Given the description of an element on the screen output the (x, y) to click on. 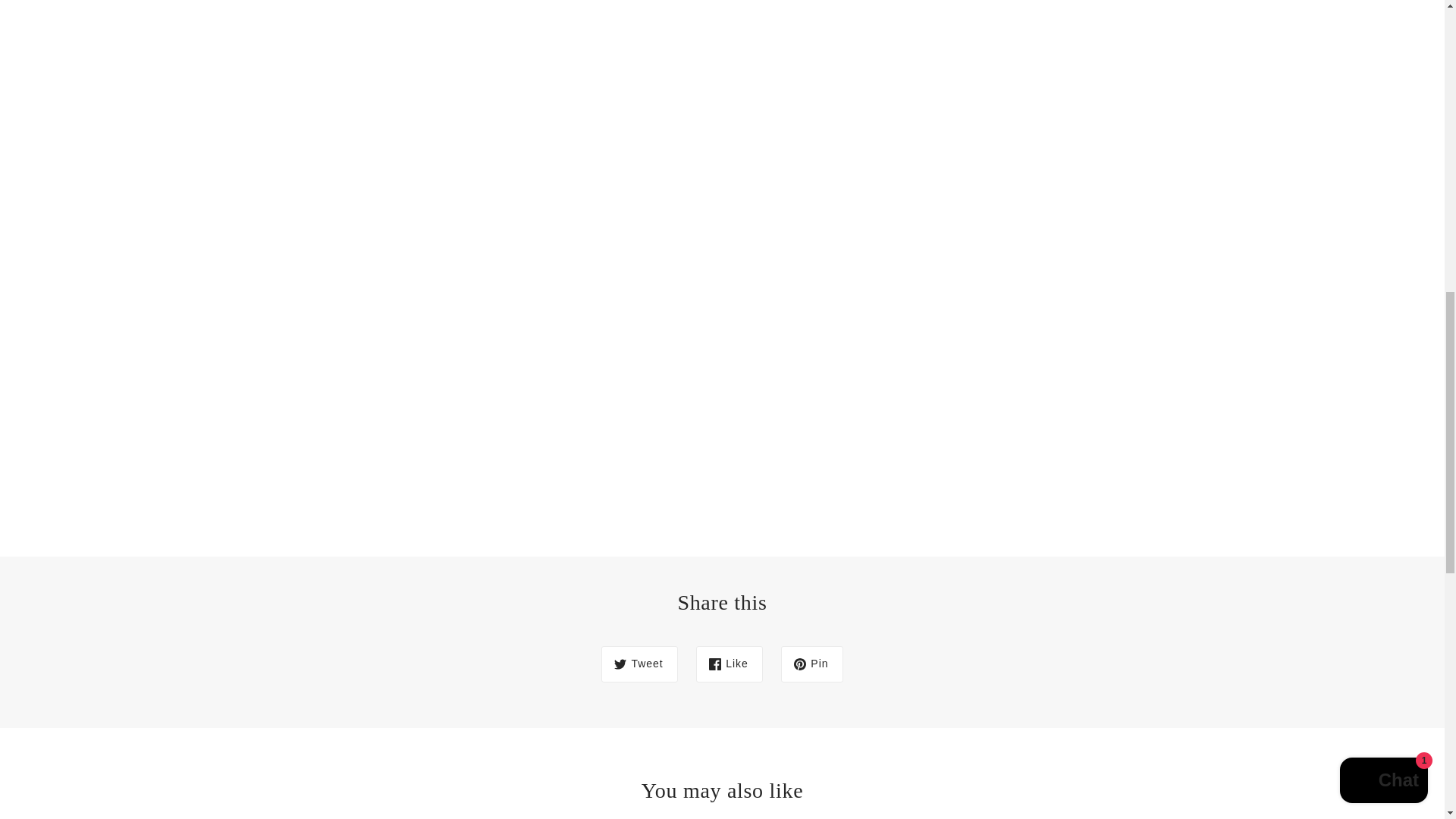
Like (728, 664)
Pin (811, 664)
Tweet (639, 664)
